Given the description of an element on the screen output the (x, y) to click on. 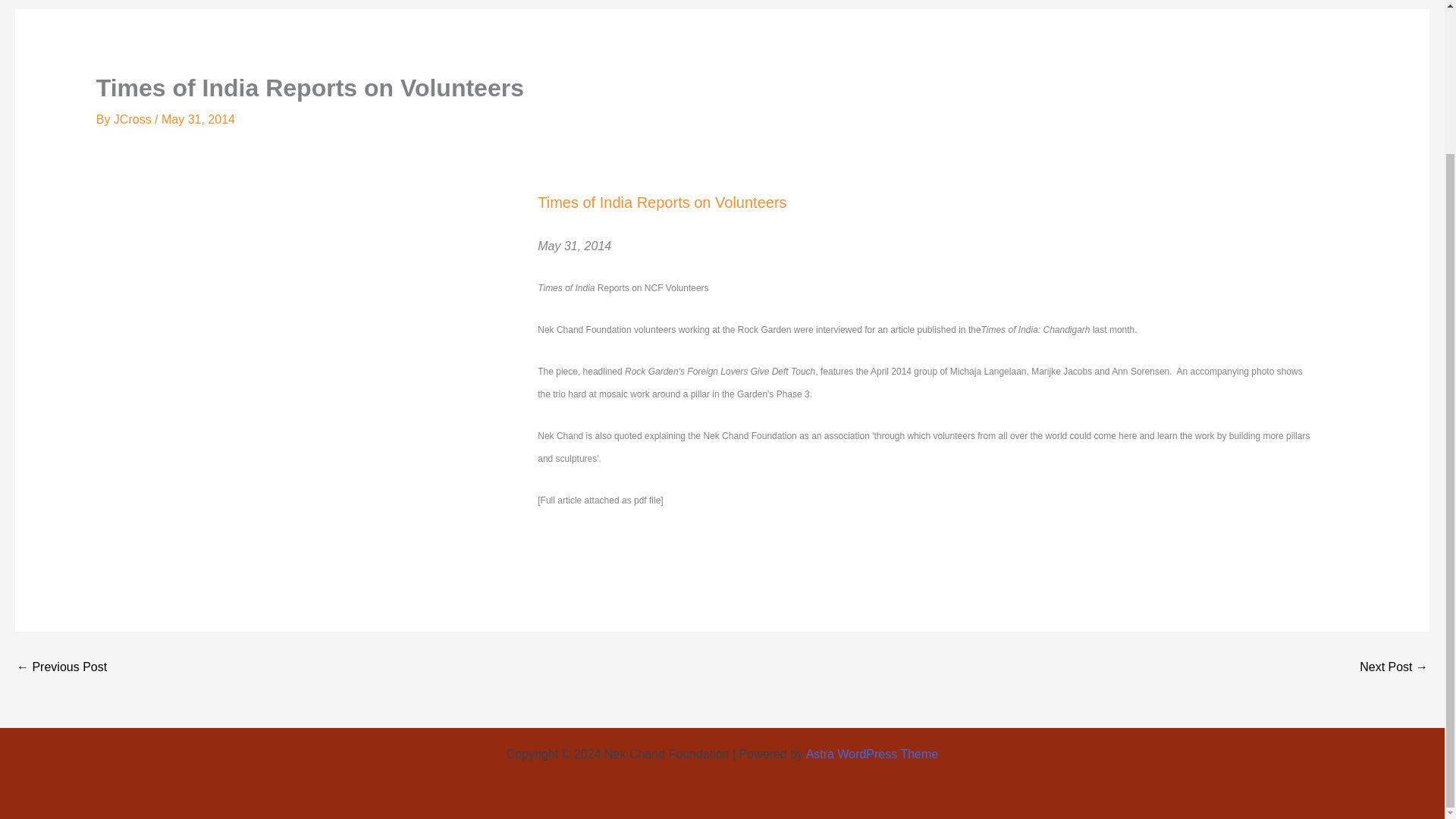
View all posts by JCross (133, 119)
Nek Chand Gets Golf Cart (61, 666)
Chandigarh Celebrates Nek Chand's 90th Birthday (1393, 666)
